Given the description of an element on the screen output the (x, y) to click on. 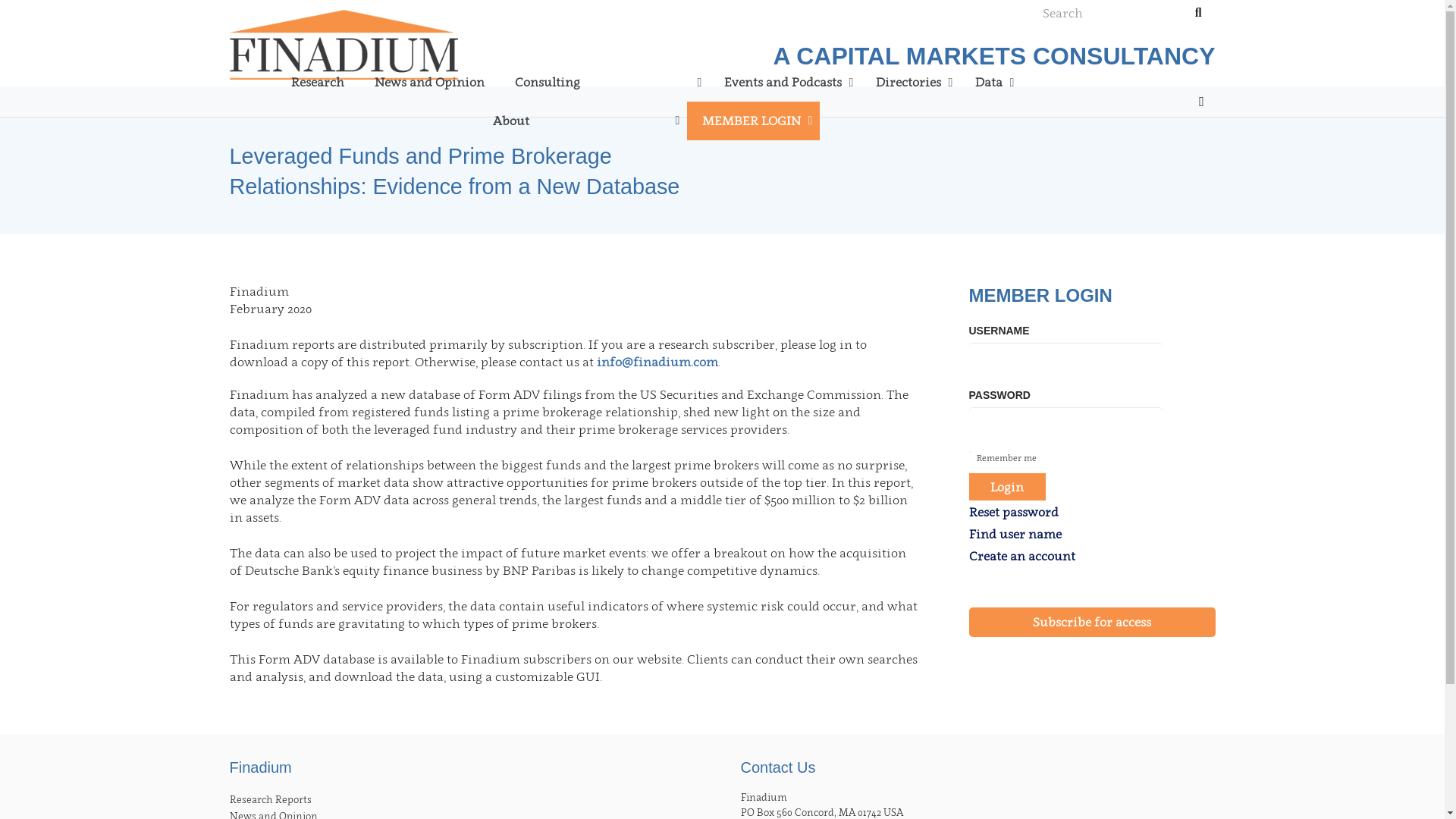
About (582, 120)
Data (990, 82)
Login (1007, 486)
News and Opinion (429, 82)
Events and Podcasts (784, 82)
Directories (909, 82)
Research (317, 82)
Login (865, 397)
Consulting (604, 82)
LinkedIn (1201, 101)
